Given the description of an element on the screen output the (x, y) to click on. 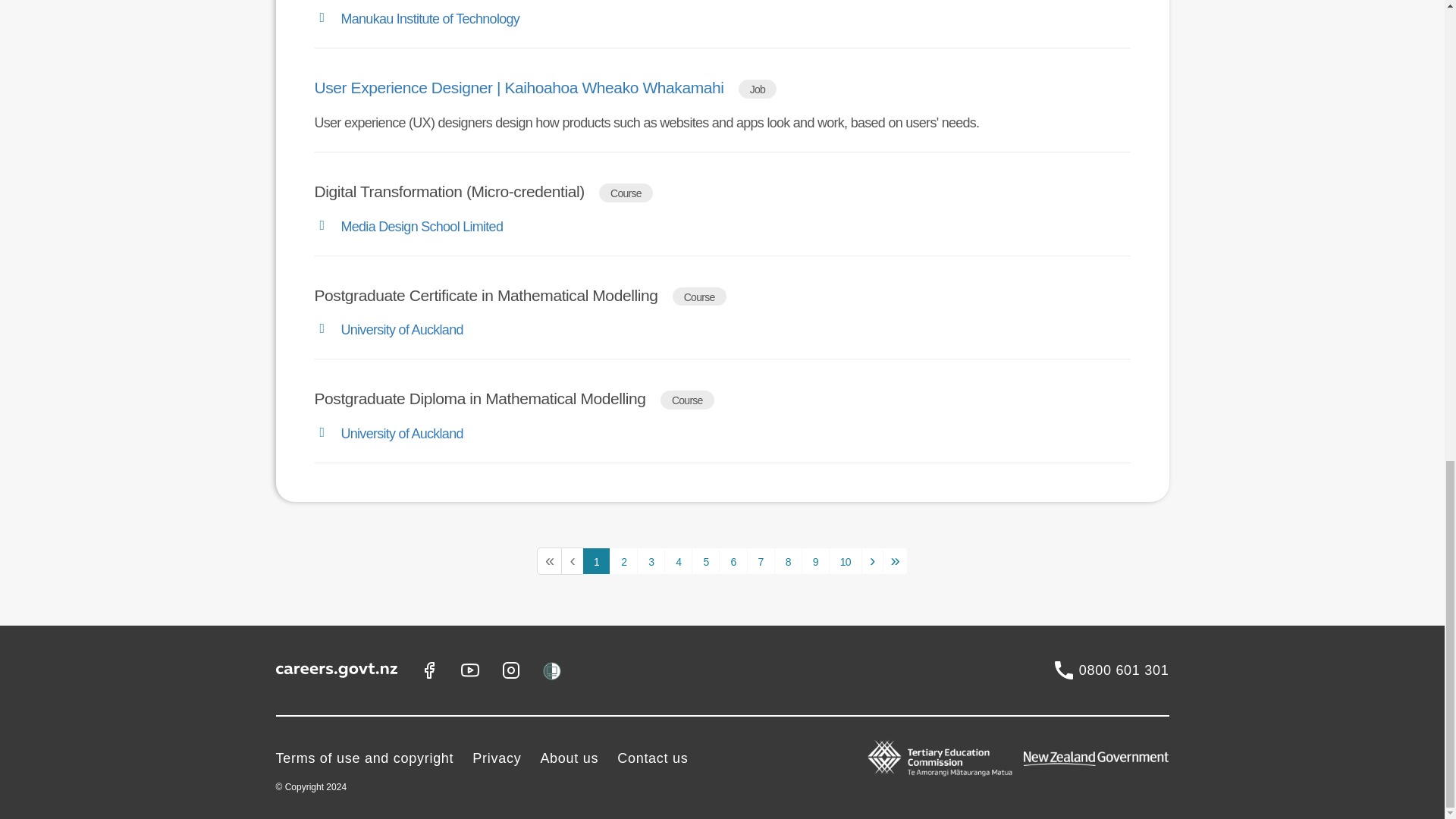
View page number 1 (596, 560)
View page number 10 (844, 560)
View page number 9 (815, 560)
View page number 8 (788, 560)
View page number 4 (678, 560)
View page number 6 (732, 560)
View page number 2 (623, 560)
View page number 7 (760, 560)
View page number 3 (651, 560)
View page number 5 (705, 560)
